Given the description of an element on the screen output the (x, y) to click on. 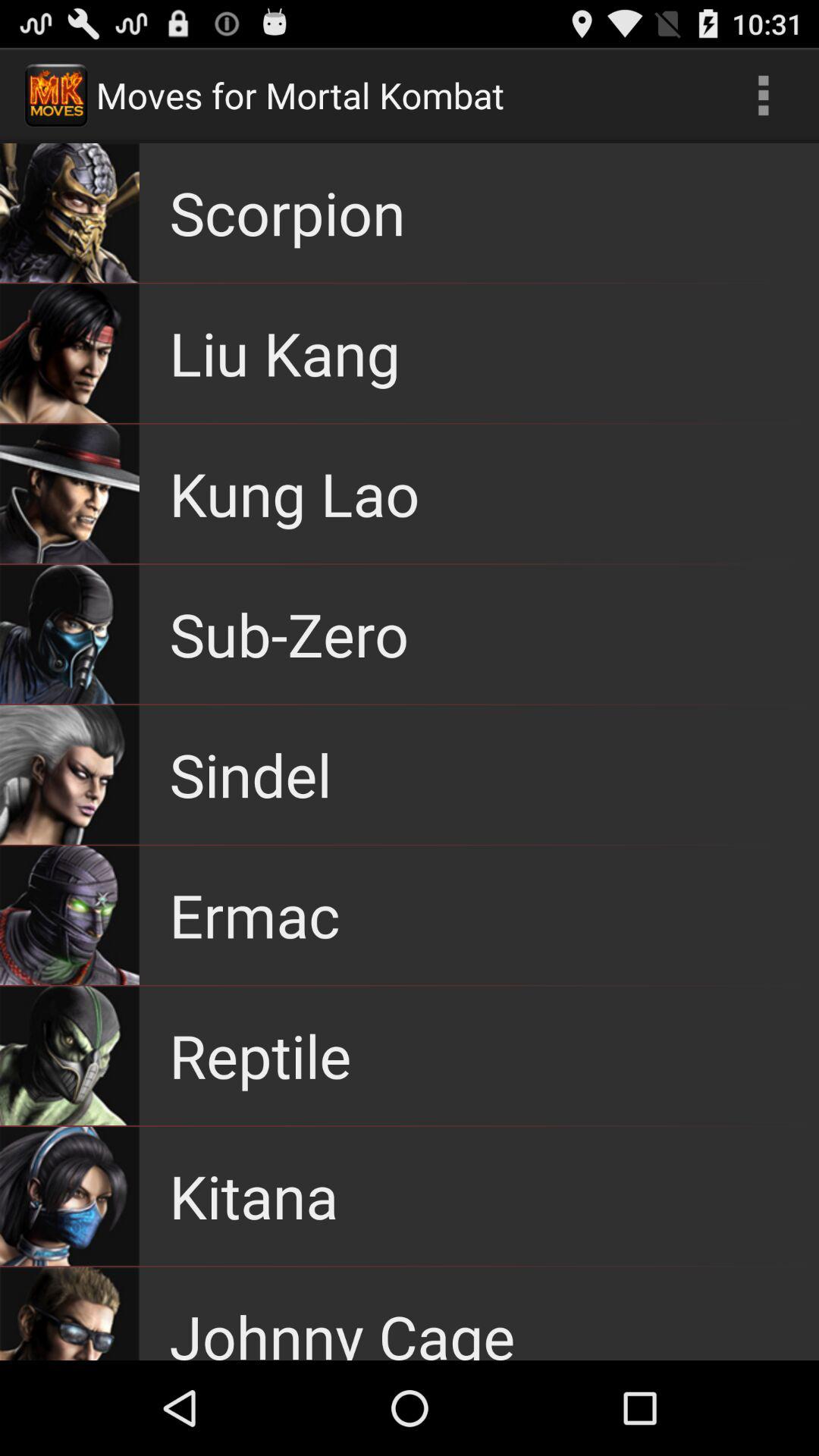
turn on the sindel (250, 774)
